Given the description of an element on the screen output the (x, y) to click on. 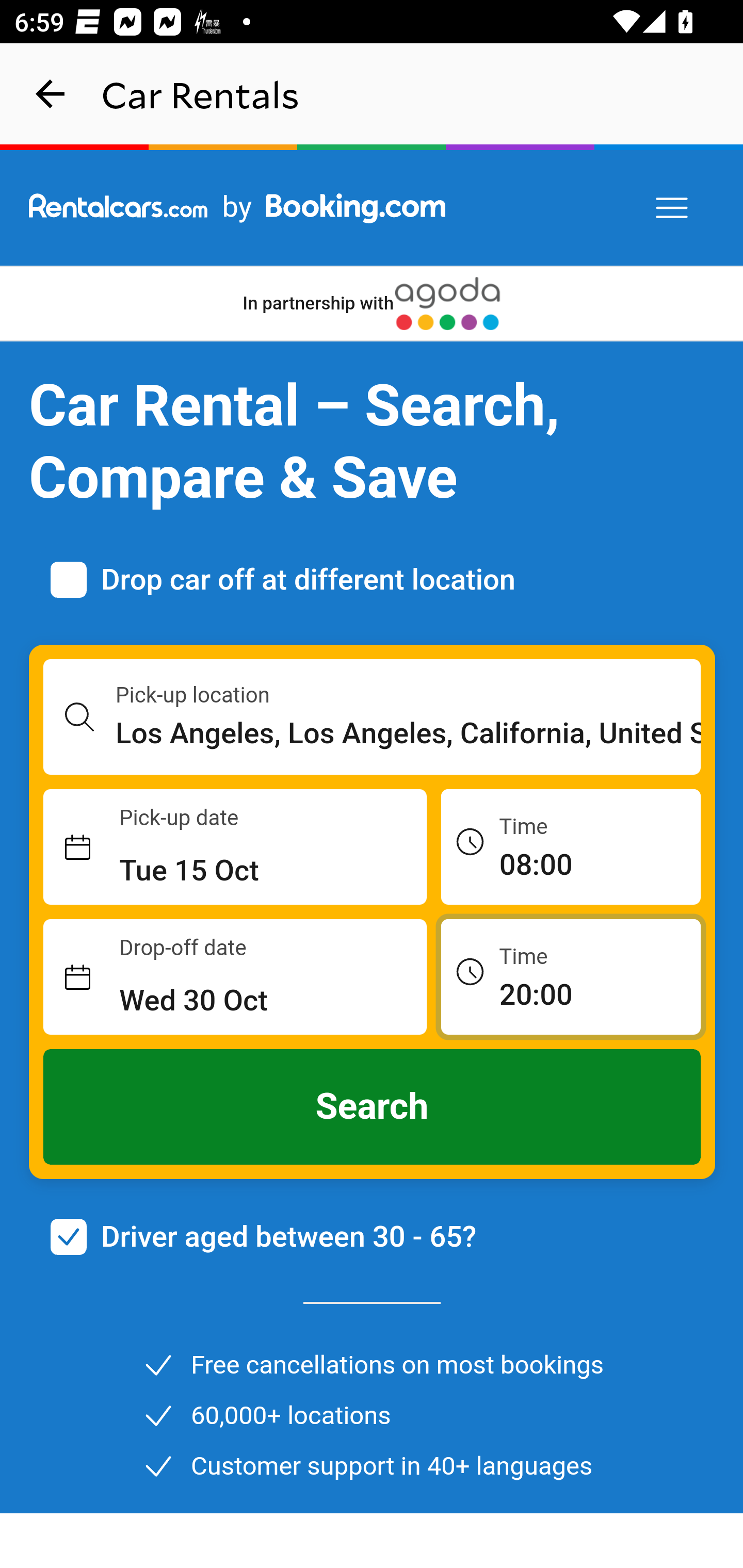
navigation_button (50, 93)
Menu (672, 208)
Pick-up date Tue 15 Oct (235, 847)
08:00 (571, 845)
Drop-off date Wed 30 Oct (235, 977)
20:00 (571, 975)
Search (372, 1106)
